Given the description of an element on the screen output the (x, y) to click on. 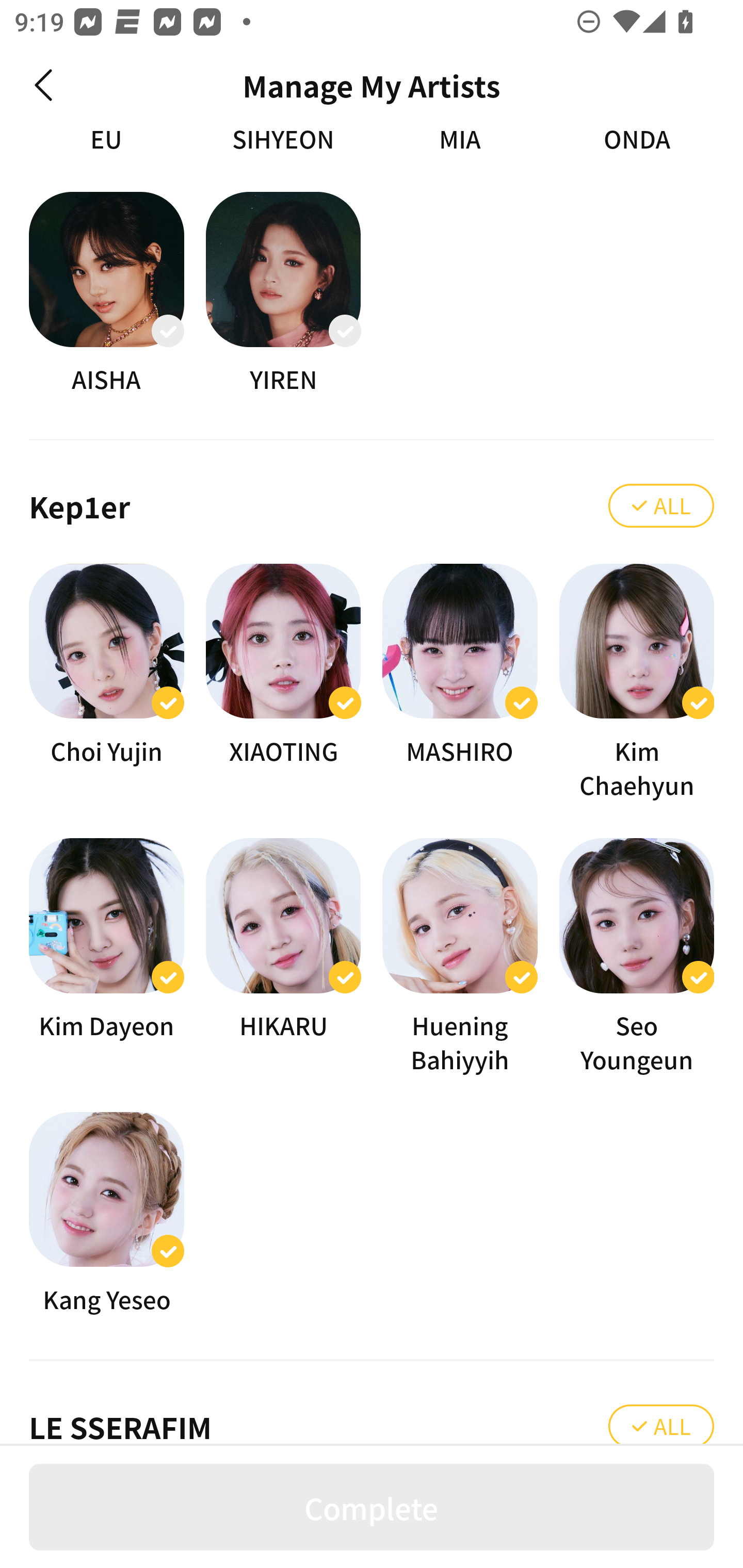
EU (106, 141)
SIHYEON (282, 141)
MIA (459, 141)
ONDA (636, 141)
AISHA (106, 293)
YIREN (282, 293)
ALL (661, 506)
Choi Yujin (106, 682)
XIAOTING (282, 682)
MASHIRO (459, 682)
Kim Chaehyun (636, 682)
Kim Dayeon (106, 957)
HIKARU (282, 957)
Huening Bahiyyih (459, 957)
Seo Youngeun (636, 957)
Kang Yeseo (106, 1213)
ALL (661, 1424)
Complete (371, 1507)
